Given the description of an element on the screen output the (x, y) to click on. 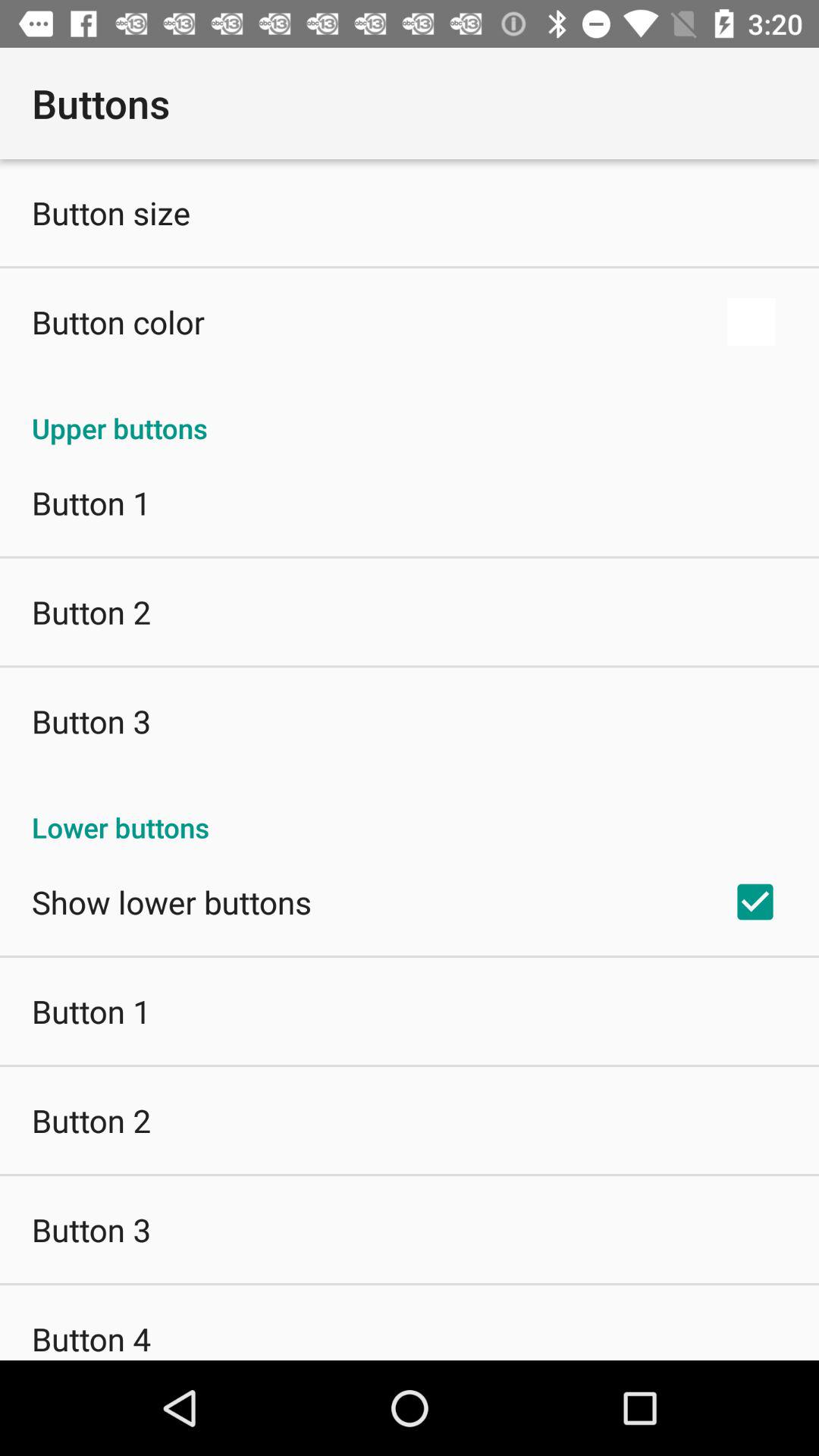
open item to the right of the show lower buttons icon (755, 901)
